Given the description of an element on the screen output the (x, y) to click on. 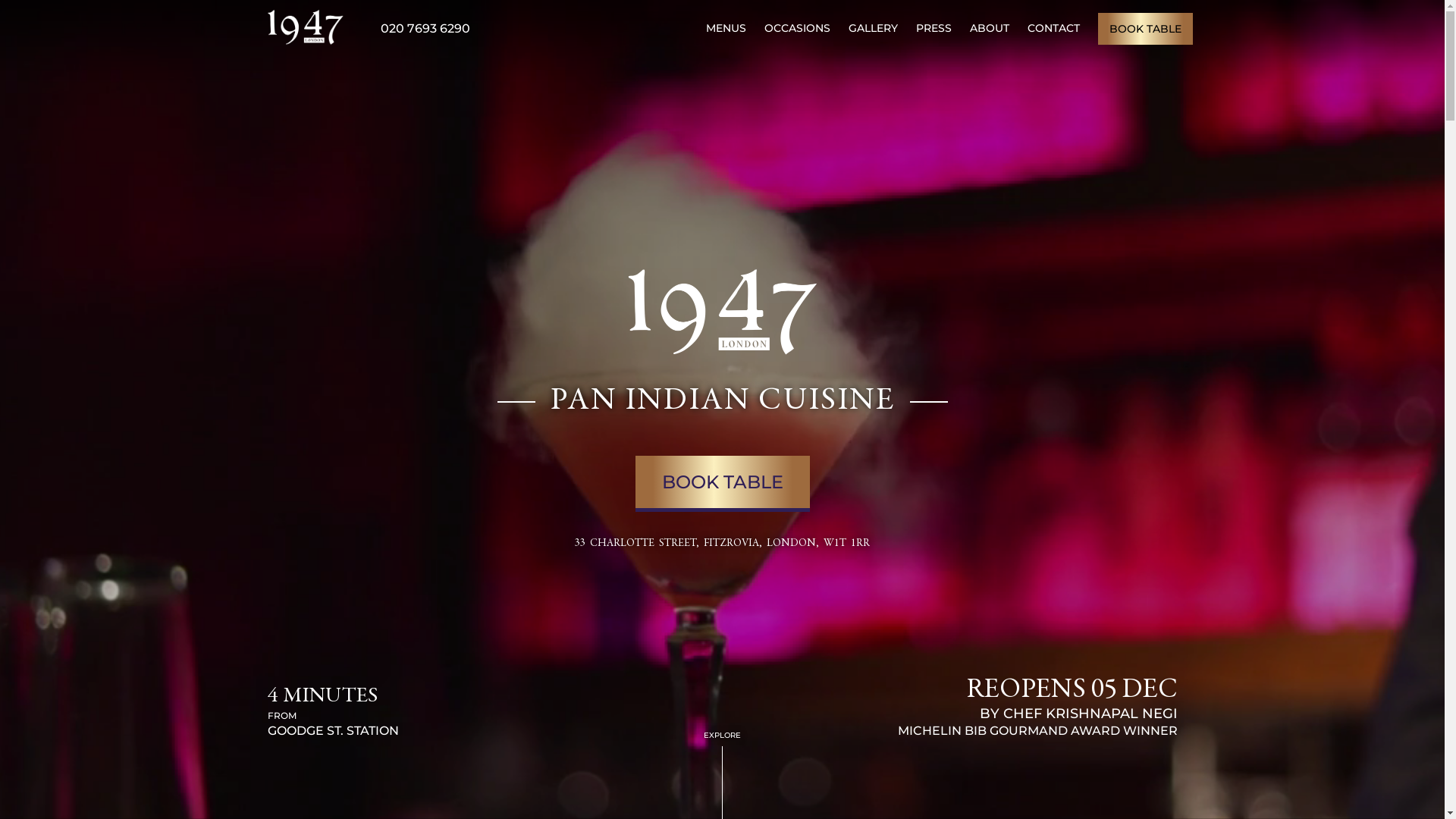
PRESS Element type: text (933, 27)
ABOUT Element type: text (988, 27)
CONTACT Element type: text (1052, 27)
BOOK TABLE Element type: text (1144, 27)
GALLERY Element type: text (872, 27)
020 7693 6290 Element type: text (425, 28)
BOOK TABLE Element type: text (722, 483)
OCCASIONS Element type: text (797, 27)
MENUS Element type: text (725, 27)
